Given the description of an element on the screen output the (x, y) to click on. 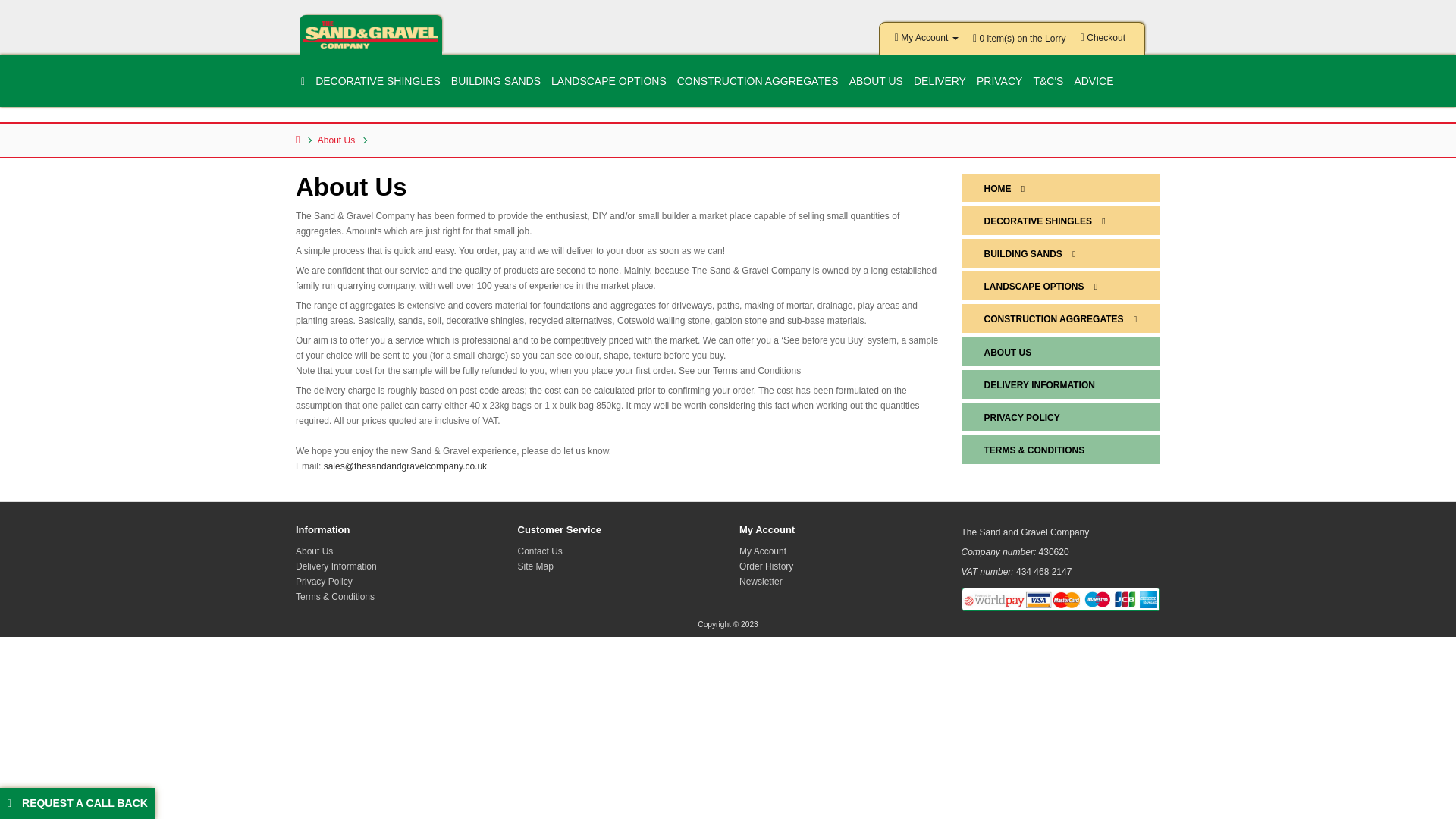
My Account (926, 41)
CONSTRUCTION AGGREGATES (757, 81)
BUILDING SANDS (495, 81)
Checkout (1102, 41)
My Account (926, 41)
Checkout (1102, 41)
DECORATIVE SHINGLES (377, 81)
LANDSCAPE OPTIONS (608, 81)
